Given the description of an element on the screen output the (x, y) to click on. 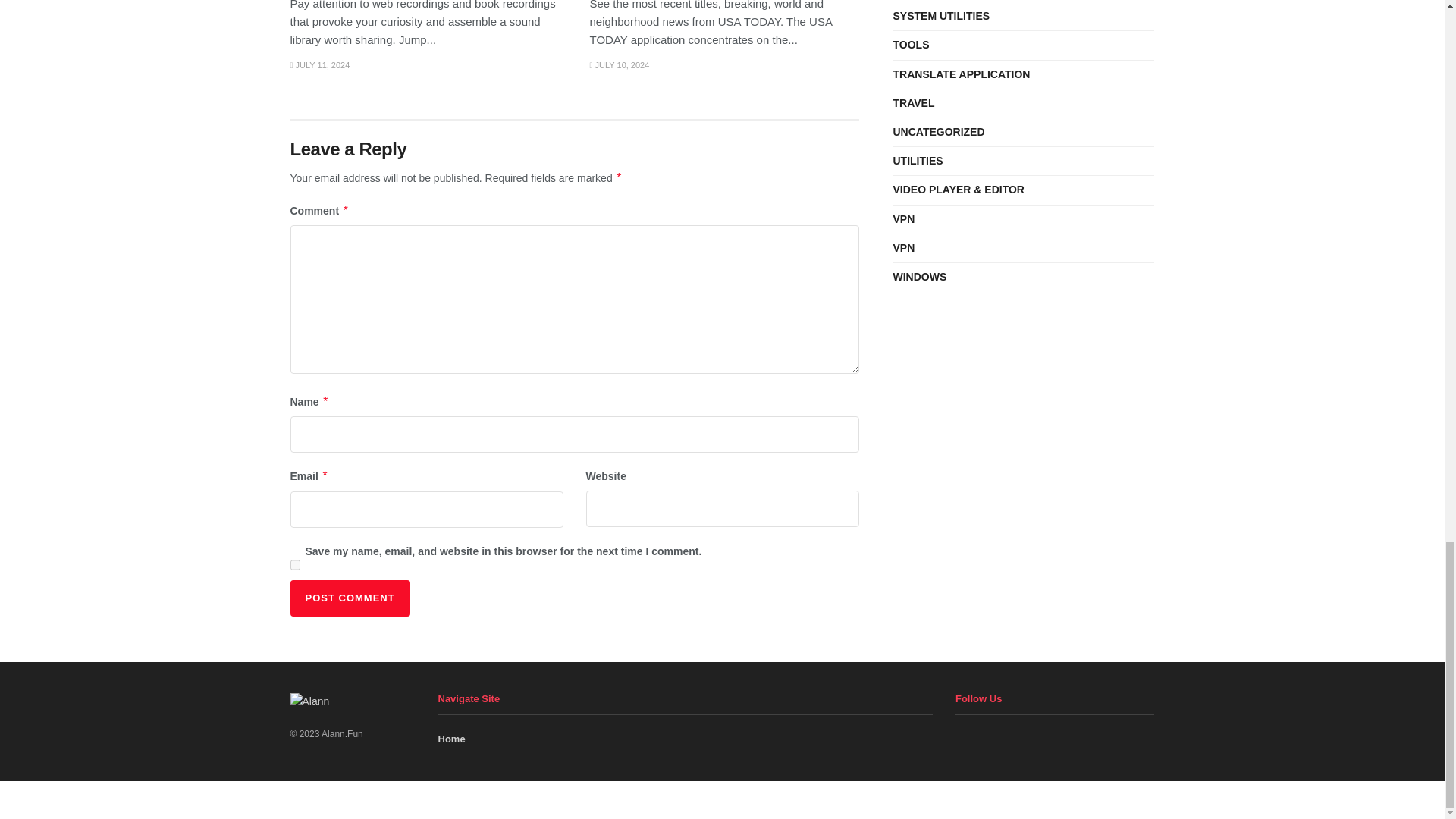
Post Comment (349, 597)
yes (294, 565)
